Given the description of an element on the screen output the (x, y) to click on. 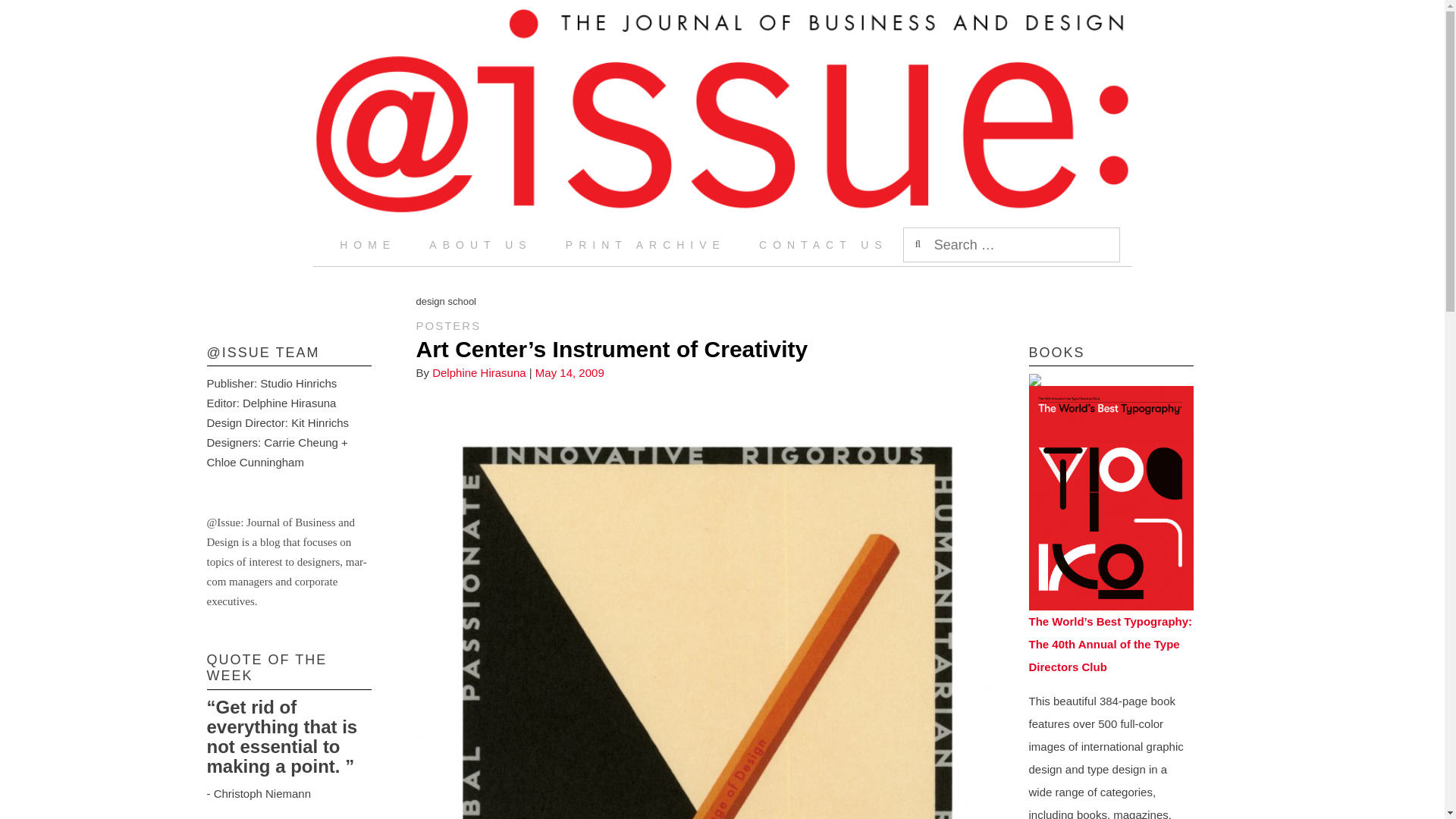
CONTACT US (823, 244)
Search (28, 15)
HOME (367, 244)
ABOUT US (480, 244)
PRINT ARCHIVE (645, 244)
